Given the description of an element on the screen output the (x, y) to click on. 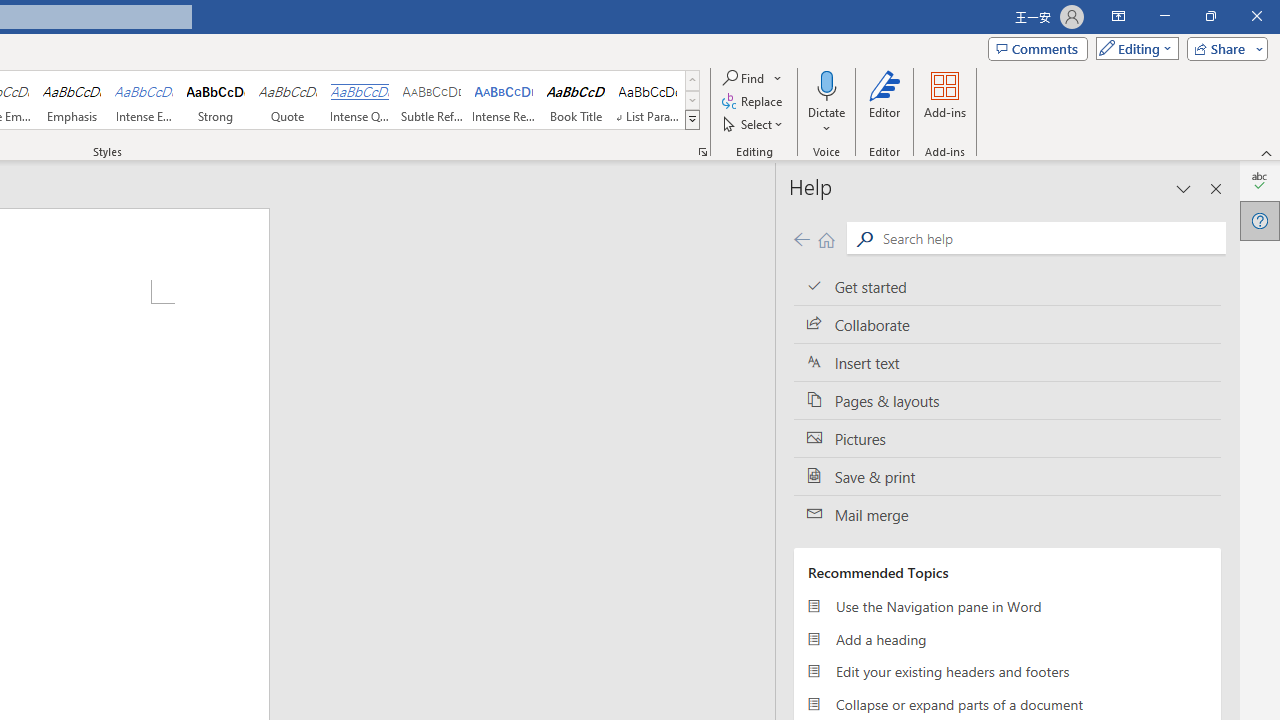
Close (1256, 16)
Strong (216, 100)
Previous page (801, 238)
Close pane (1215, 188)
Restore Down (1210, 16)
